Given the description of an element on the screen output the (x, y) to click on. 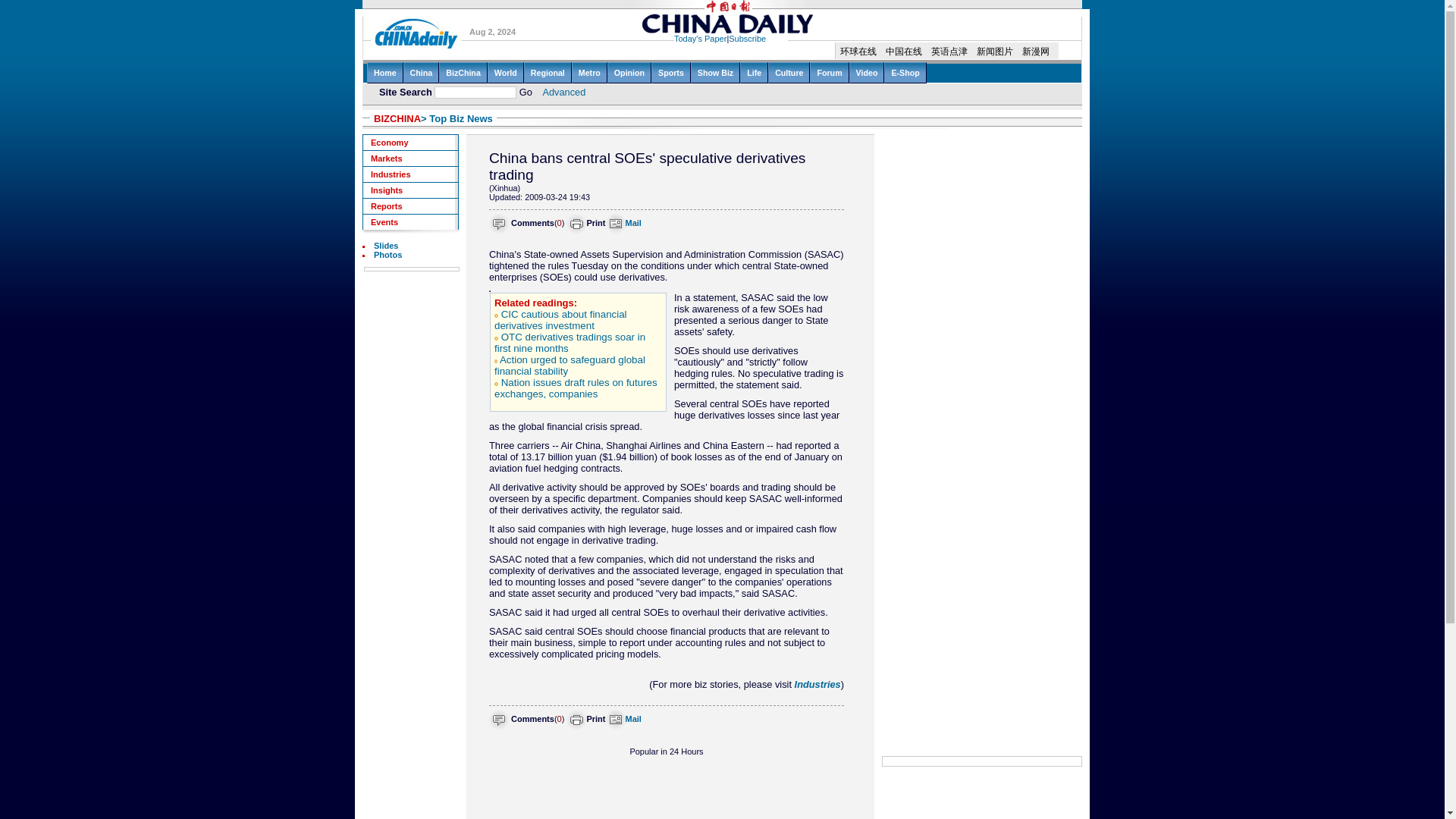
OTC derivatives tradings soar in first nine months (570, 342)
BIZCHINA (397, 118)
Industries (817, 684)
Industries (410, 173)
Mail (632, 222)
Mail (632, 718)
Events (410, 221)
Reports (410, 205)
Slides (385, 245)
Nation issues draft rules on futures exchanges, companies (576, 387)
CIC cautious about financial derivatives investment (561, 319)
Insights (410, 189)
Print (595, 718)
Action urged to safeguard global financial stability (570, 364)
Print (595, 222)
